Given the description of an element on the screen output the (x, y) to click on. 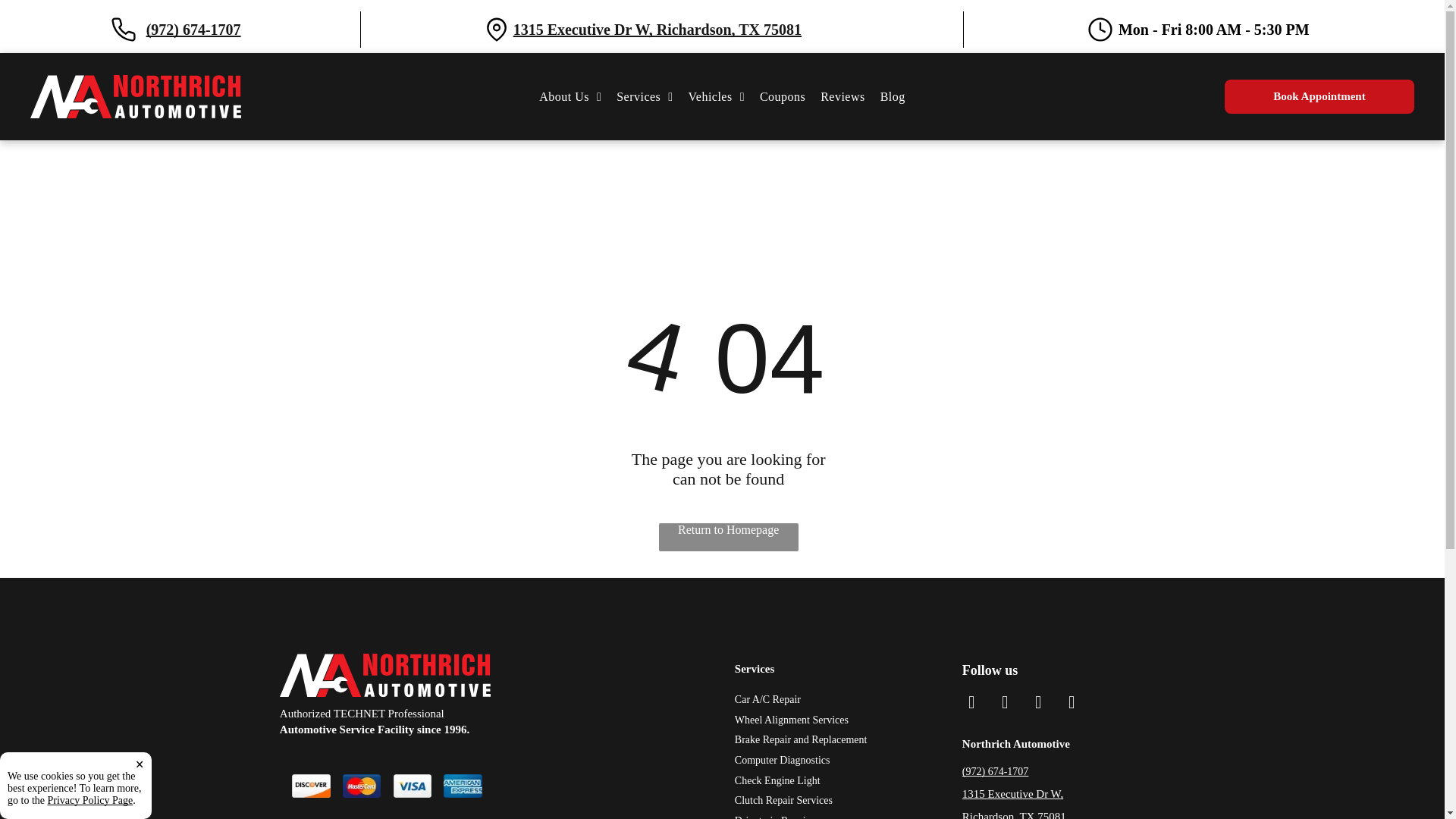
Vehicles (716, 96)
1315 Executive Dr W, Richardson, TX 75081 (643, 96)
About Us (657, 29)
Services (569, 96)
Go to Homepage (643, 96)
1315 Executive Dr W, Richardson, TX 75081 (135, 81)
Visit Page (569, 96)
